Given the description of an element on the screen output the (x, y) to click on. 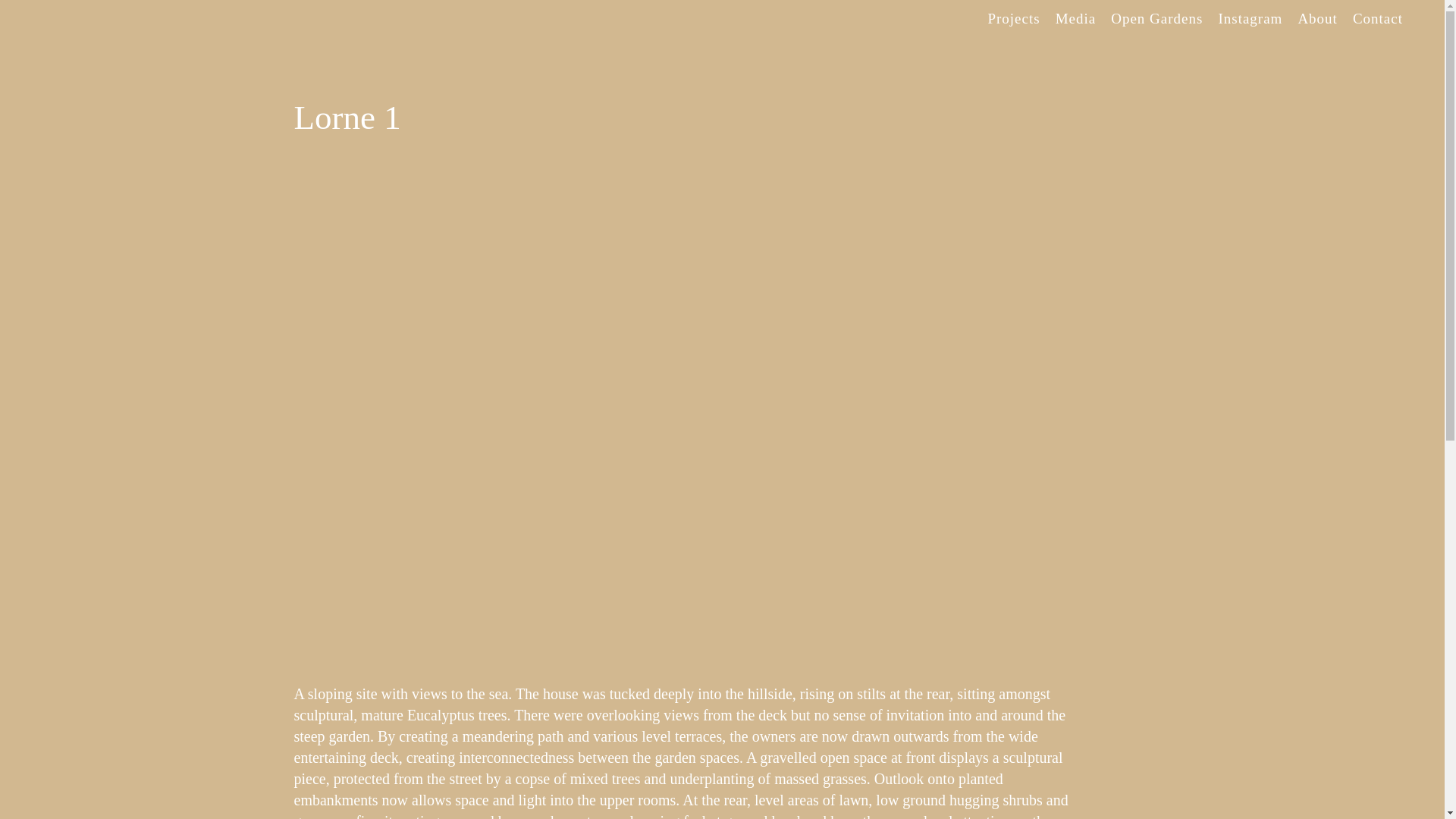
Contact Element type: text (1377, 18)
About Element type: text (1317, 18)
Projects Element type: text (1013, 18)
Instagram Element type: text (1249, 18)
Open Gardens Element type: text (1156, 18)
Media Element type: text (1076, 18)
